Given the description of an element on the screen output the (x, y) to click on. 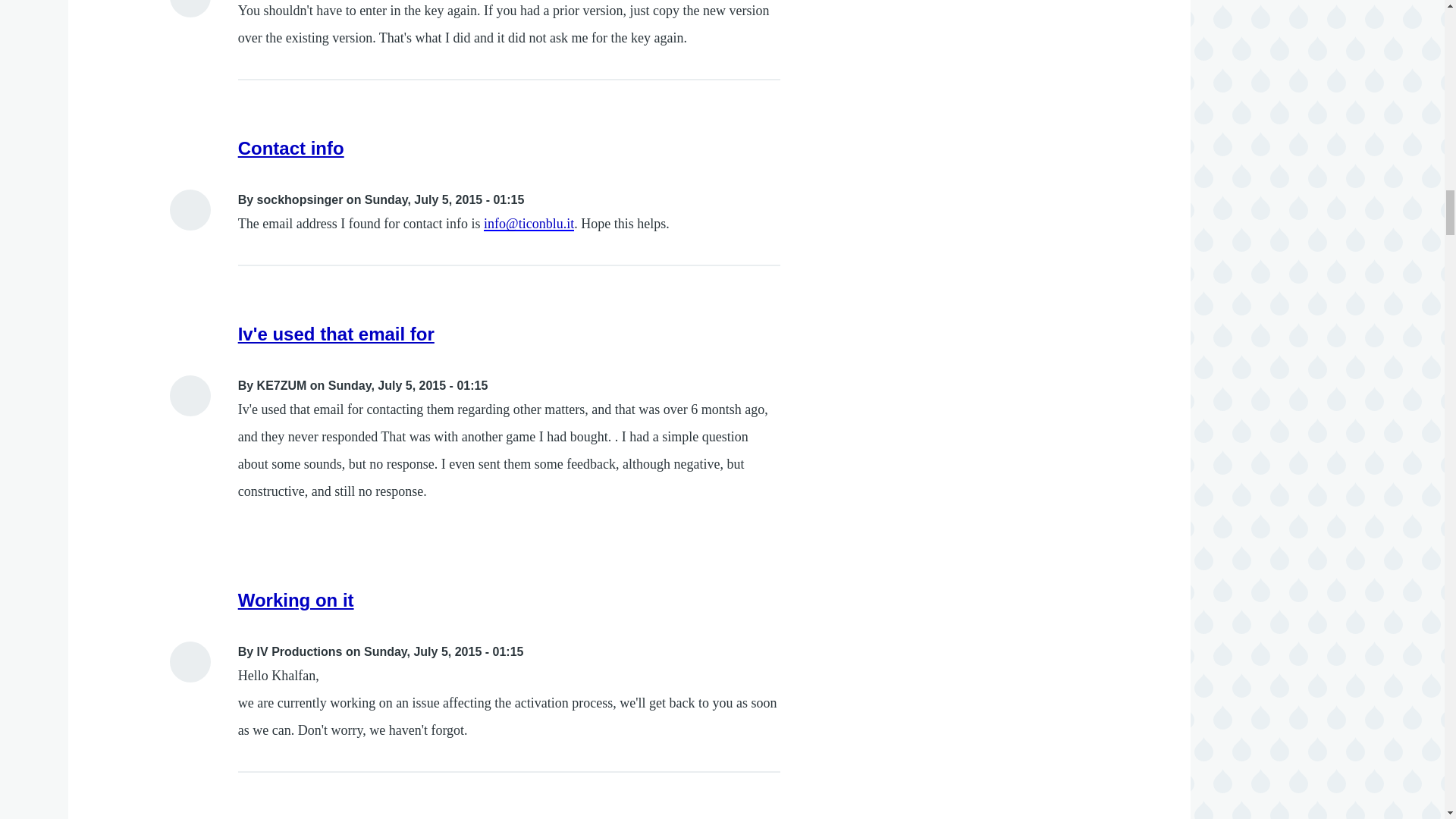
Working on it (295, 599)
Contact info (290, 148)
Iv'e used that email for (335, 333)
